Given the description of an element on the screen output the (x, y) to click on. 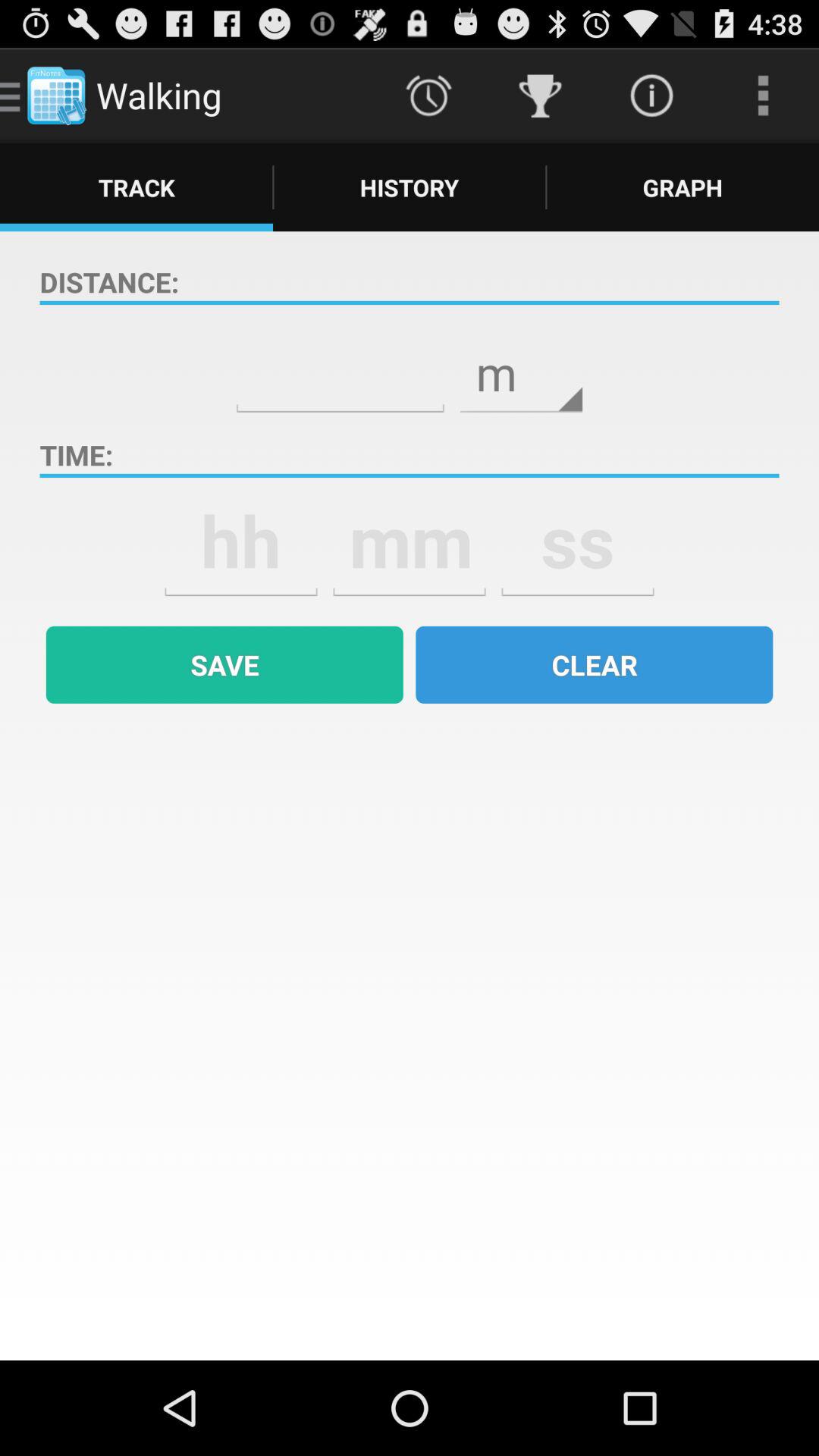
seconds (577, 540)
